Given the description of an element on the screen output the (x, y) to click on. 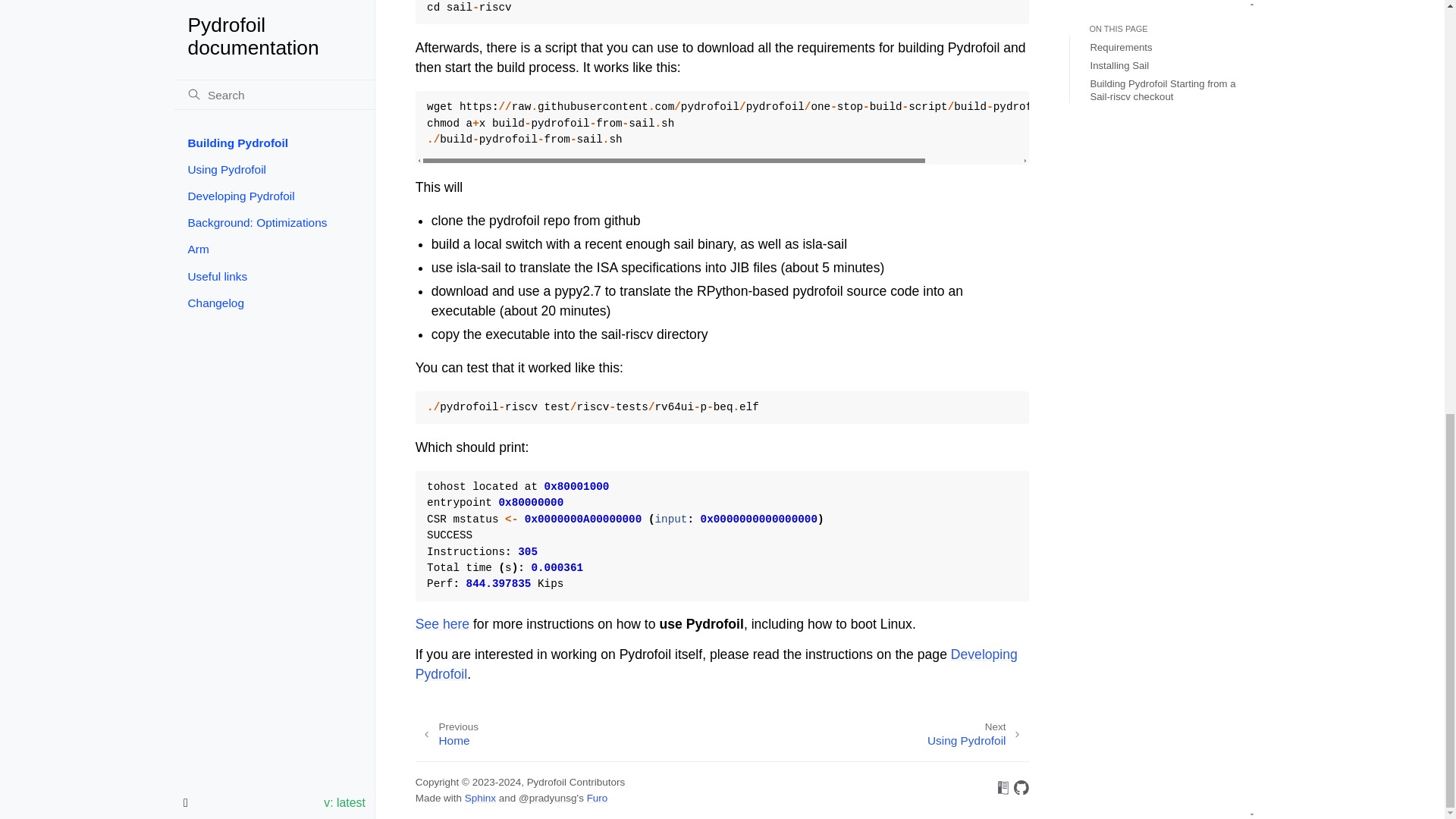
Developing Pydrofoil (715, 664)
Furo (597, 797)
See here (978, 734)
Sphinx (446, 734)
